Given the description of an element on the screen output the (x, y) to click on. 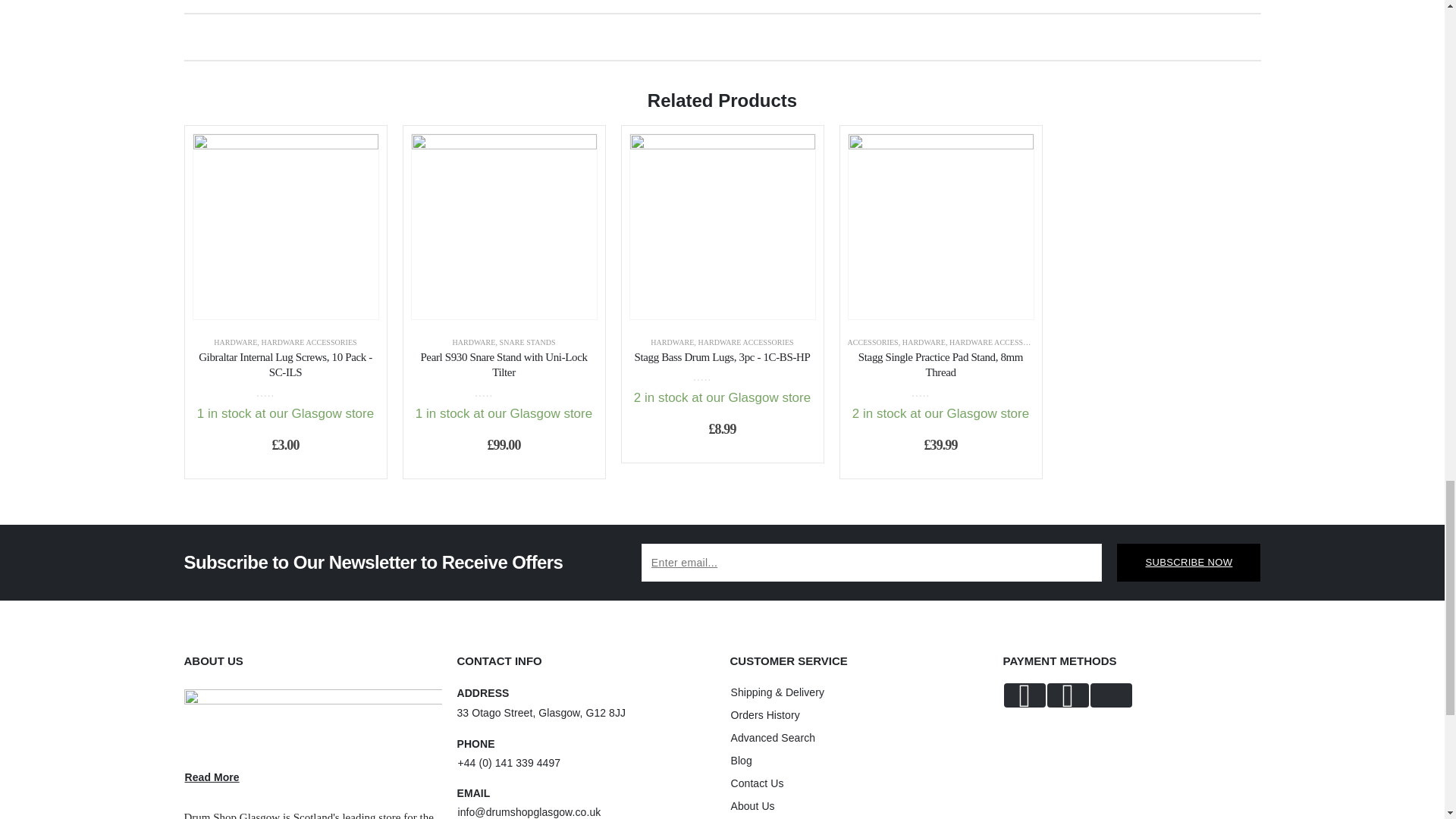
0 (285, 391)
